Given the description of an element on the screen output the (x, y) to click on. 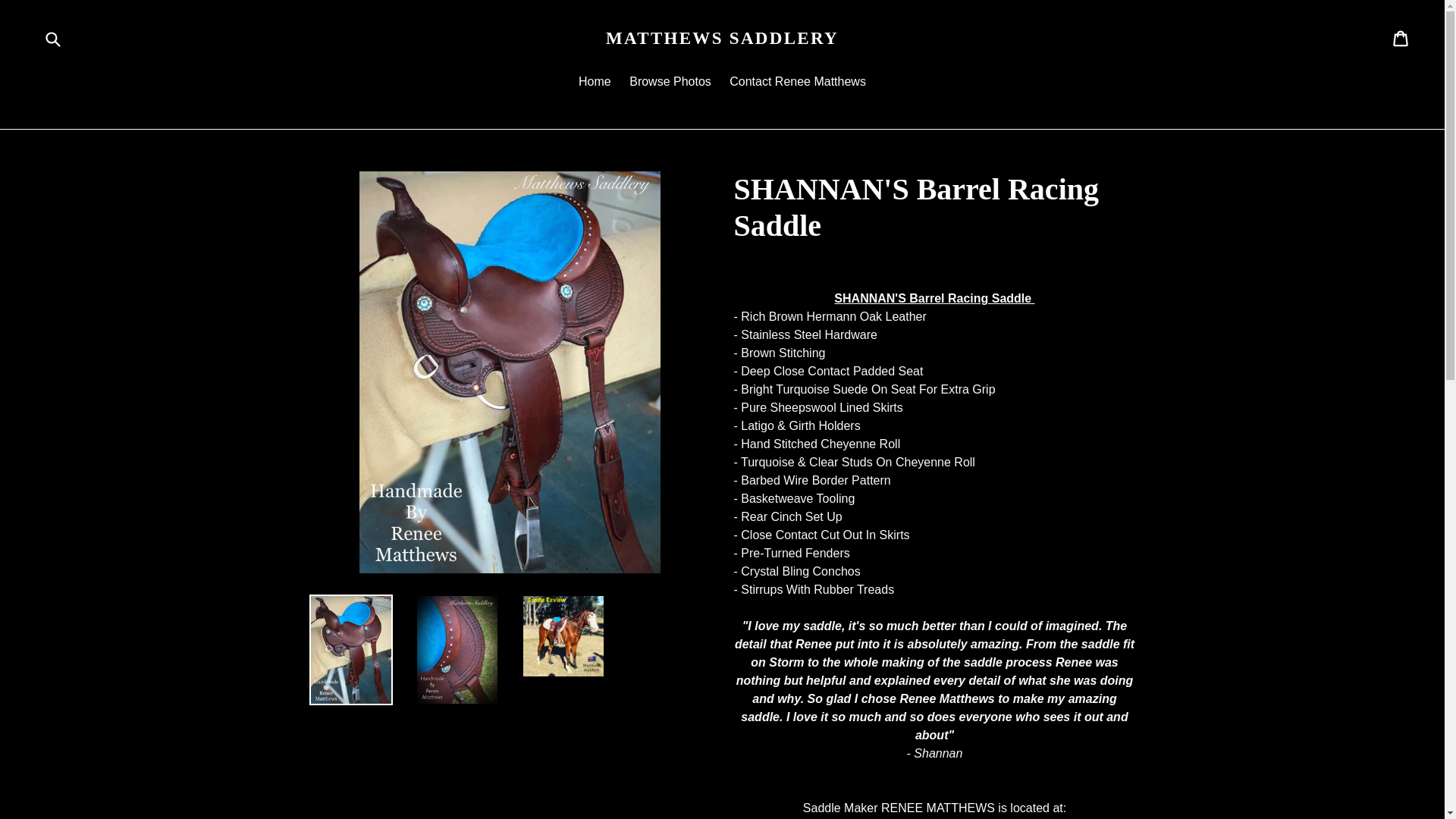
MATTHEWS SADDLERY Element type: text (721, 38)
Browse Photos Element type: text (669, 82)
Home Element type: text (594, 82)
Contact Renee Matthews Element type: text (797, 82)
Cart
Cart Element type: text (1401, 38)
Submit Element type: text (51, 37)
